Given the description of an element on the screen output the (x, y) to click on. 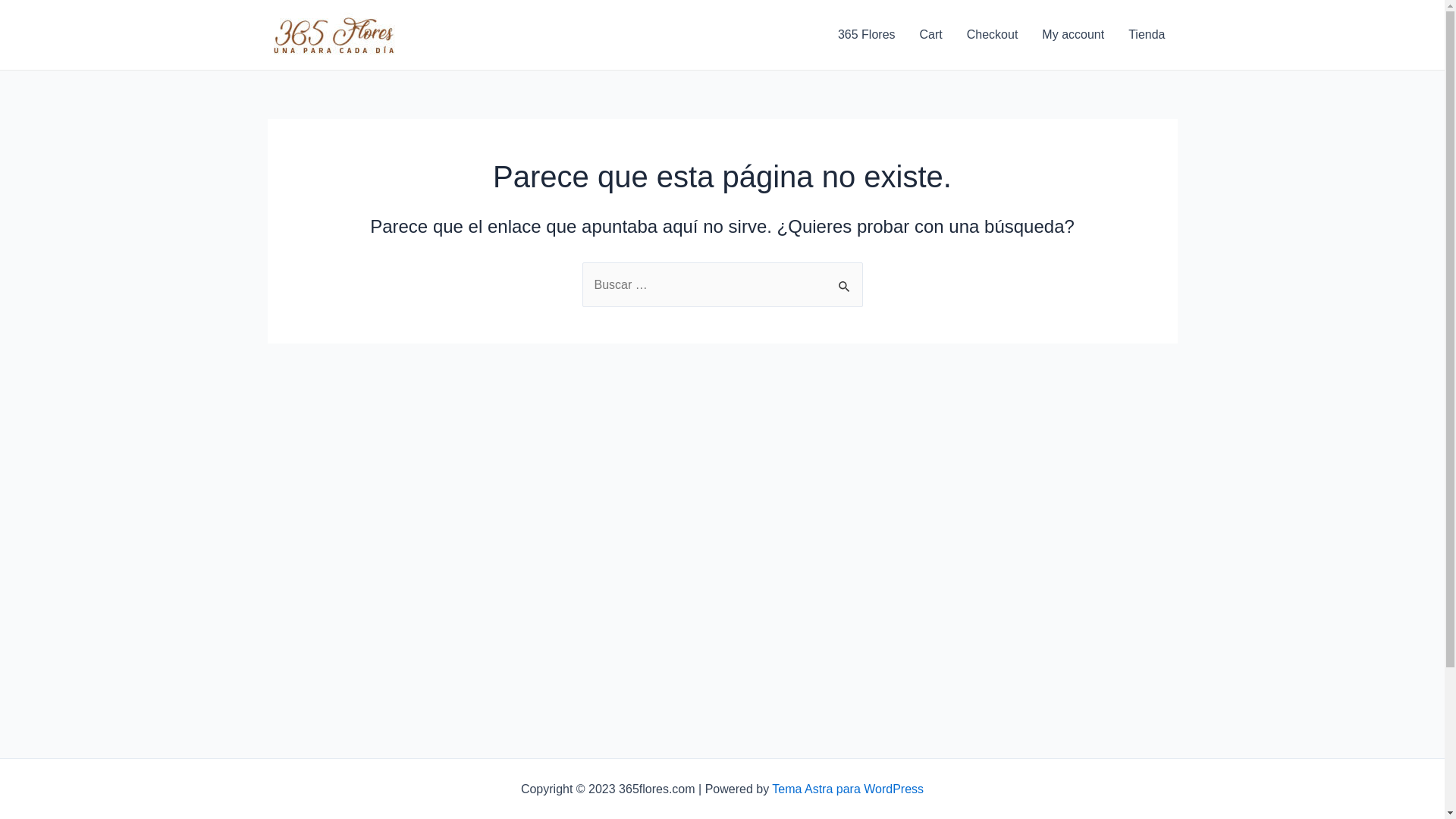
My account Element type: text (1072, 34)
Cart Element type: text (930, 34)
Buscar Element type: text (845, 278)
Checkout Element type: text (992, 34)
365 Flores Element type: text (866, 34)
Tema Astra para WordPress Element type: text (847, 788)
Tienda Element type: text (1146, 34)
